Given the description of an element on the screen output the (x, y) to click on. 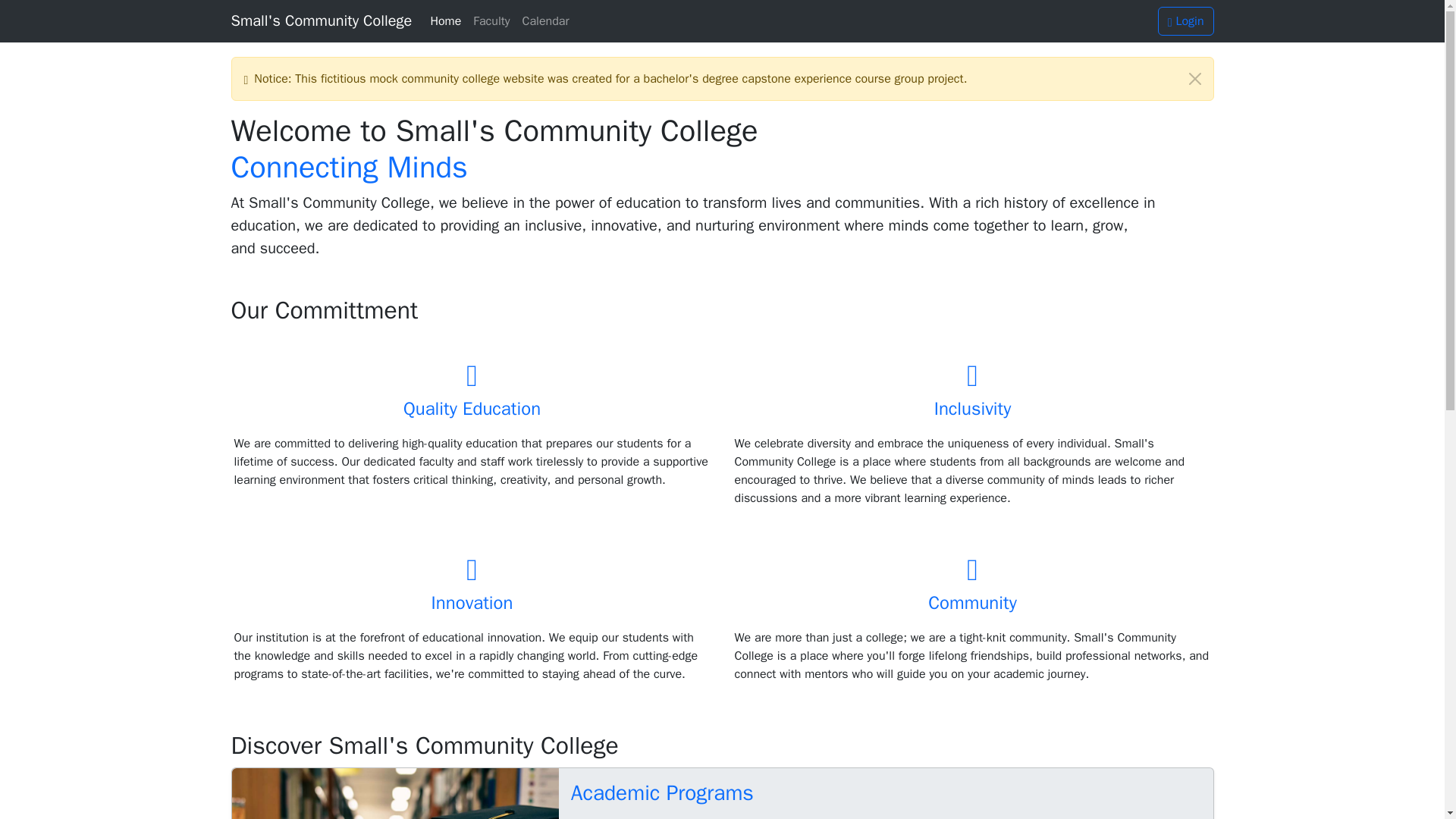
 Small's Community College: Connecting Minds  (321, 20)
Home (445, 20)
Login (1185, 21)
Small's Community College (321, 20)
Calendar (545, 20)
Faculty (491, 20)
